Given the description of an element on the screen output the (x, y) to click on. 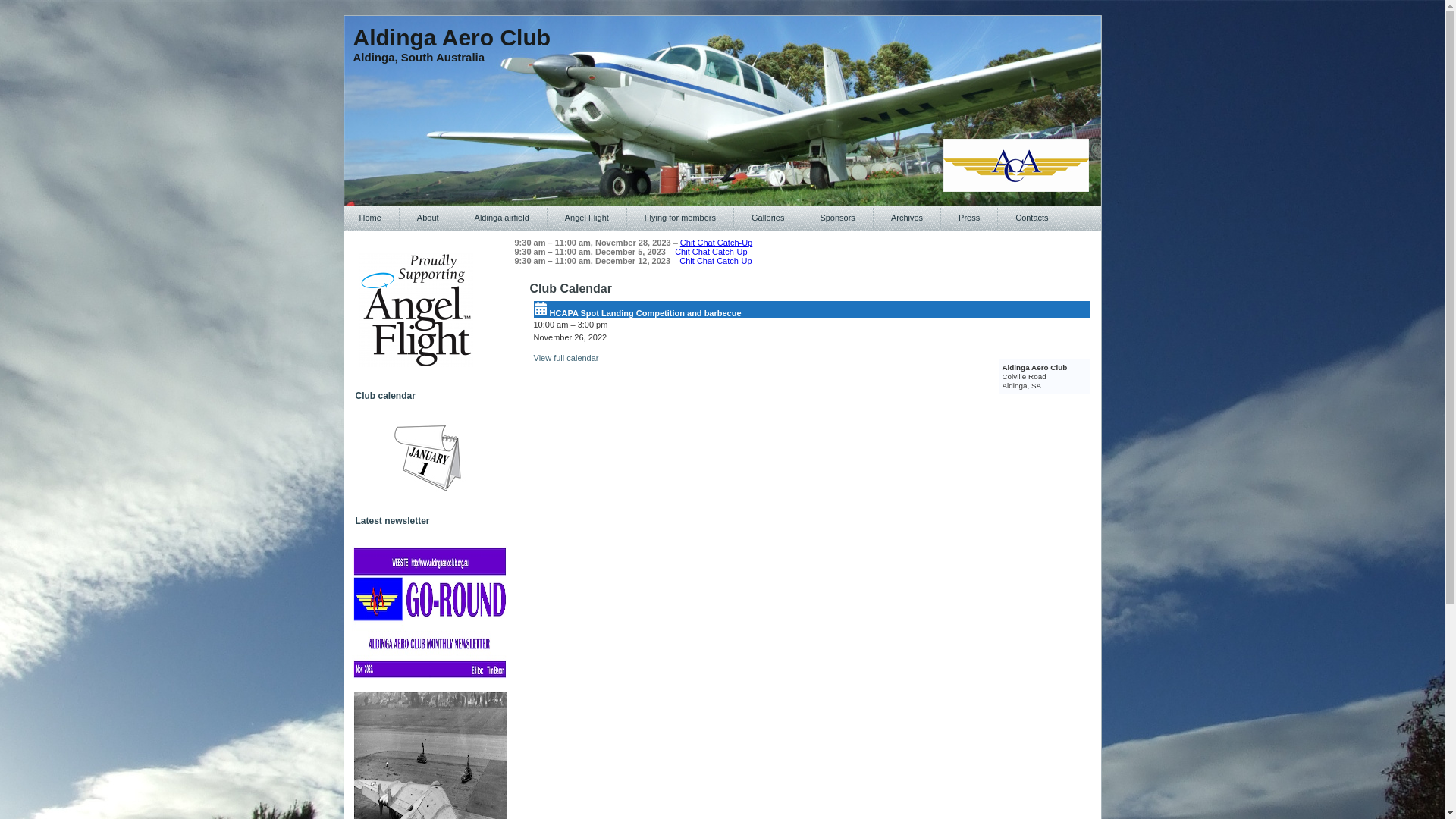
Club calendar Element type: hover (429, 456)
Chit Chat Catch-Up Element type: text (716, 242)
Angel Flight Element type: text (586, 217)
Galleries Element type: text (767, 217)
Press Element type: text (968, 217)
Flying for members Element type: text (679, 217)
Home Element type: text (369, 217)
Sponsors Element type: text (836, 217)
Aldinga Aero Club Element type: text (452, 37)
Contacts Element type: text (1031, 217)
Aldinga airfield Element type: text (501, 217)
View full calendar Element type: text (566, 357)
Chit Chat Catch-Up Element type: text (710, 251)
Chit Chat Catch-Up Element type: text (715, 260)
About Element type: text (427, 217)
Archives Element type: text (906, 217)
